Given the description of an element on the screen output the (x, y) to click on. 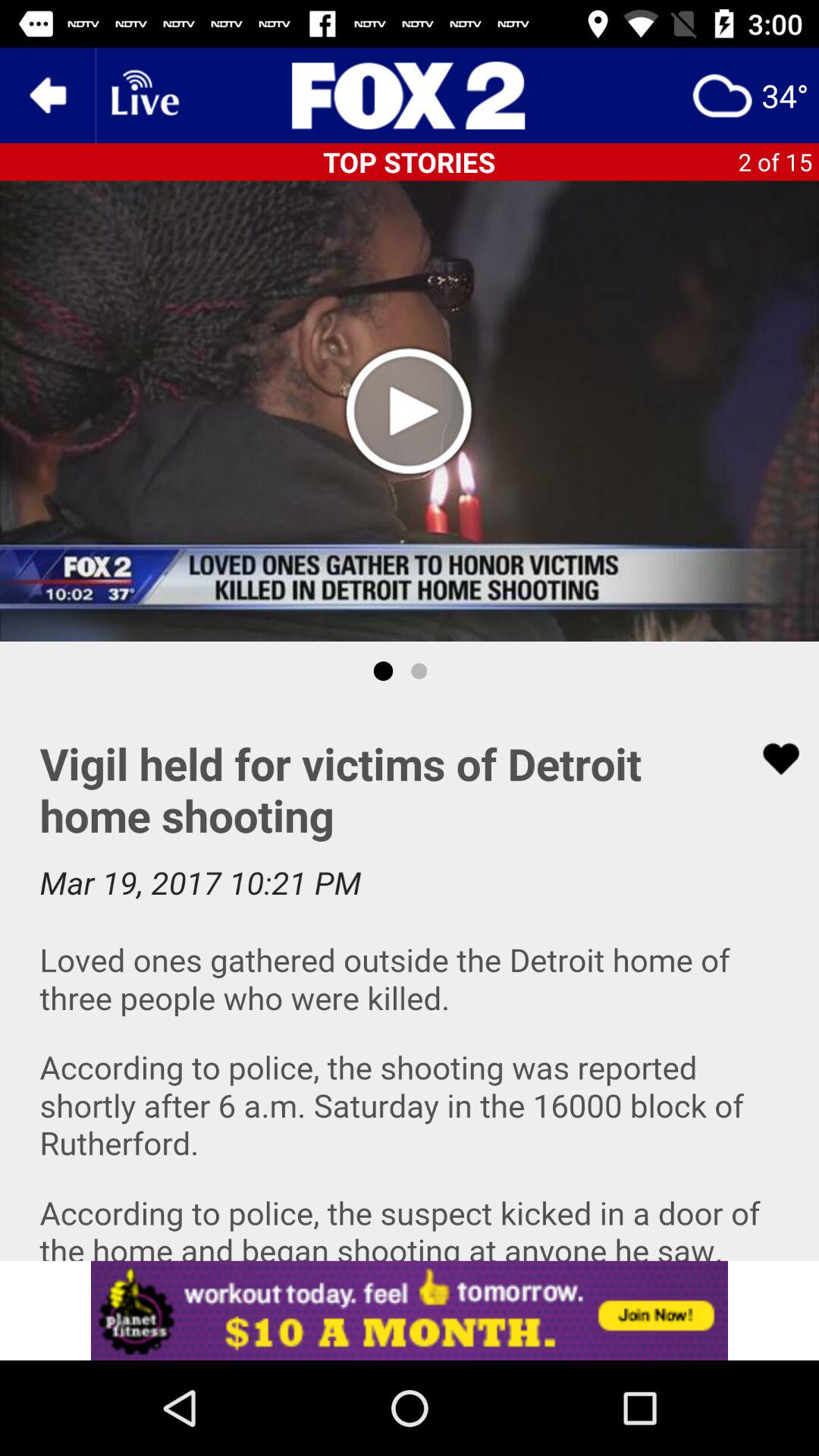
show live broadcast button (143, 95)
